Given the description of an element on the screen output the (x, y) to click on. 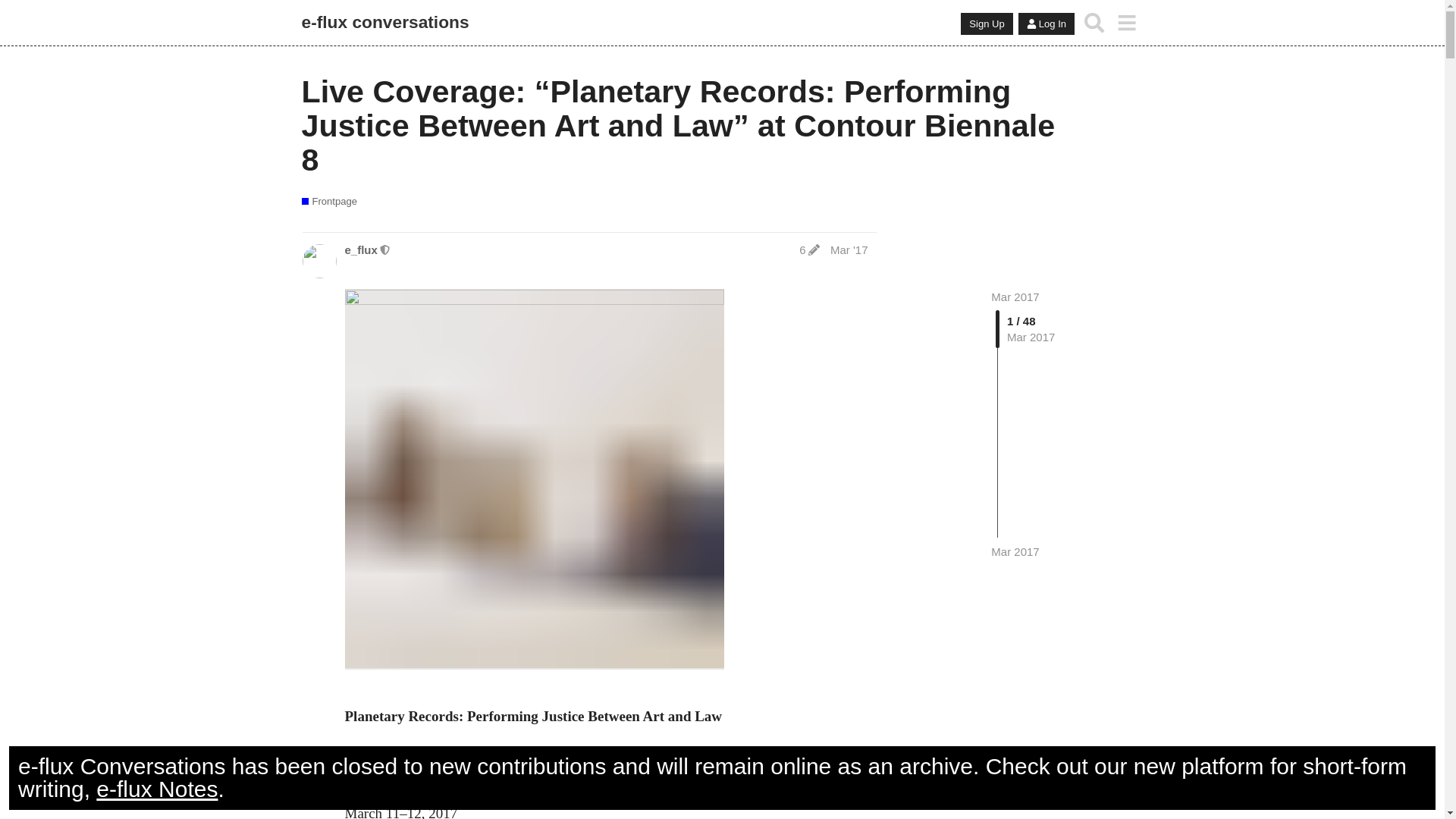
Mar '17 (848, 249)
Sign Up (985, 24)
Log In (1045, 24)
This user is a moderator (385, 249)
Mar 2017 (1015, 551)
menu (1126, 22)
6 (809, 249)
Mar 2017 (1015, 296)
Mar 2017 (1015, 551)
e-flux conversations (384, 22)
